Given the description of an element on the screen output the (x, y) to click on. 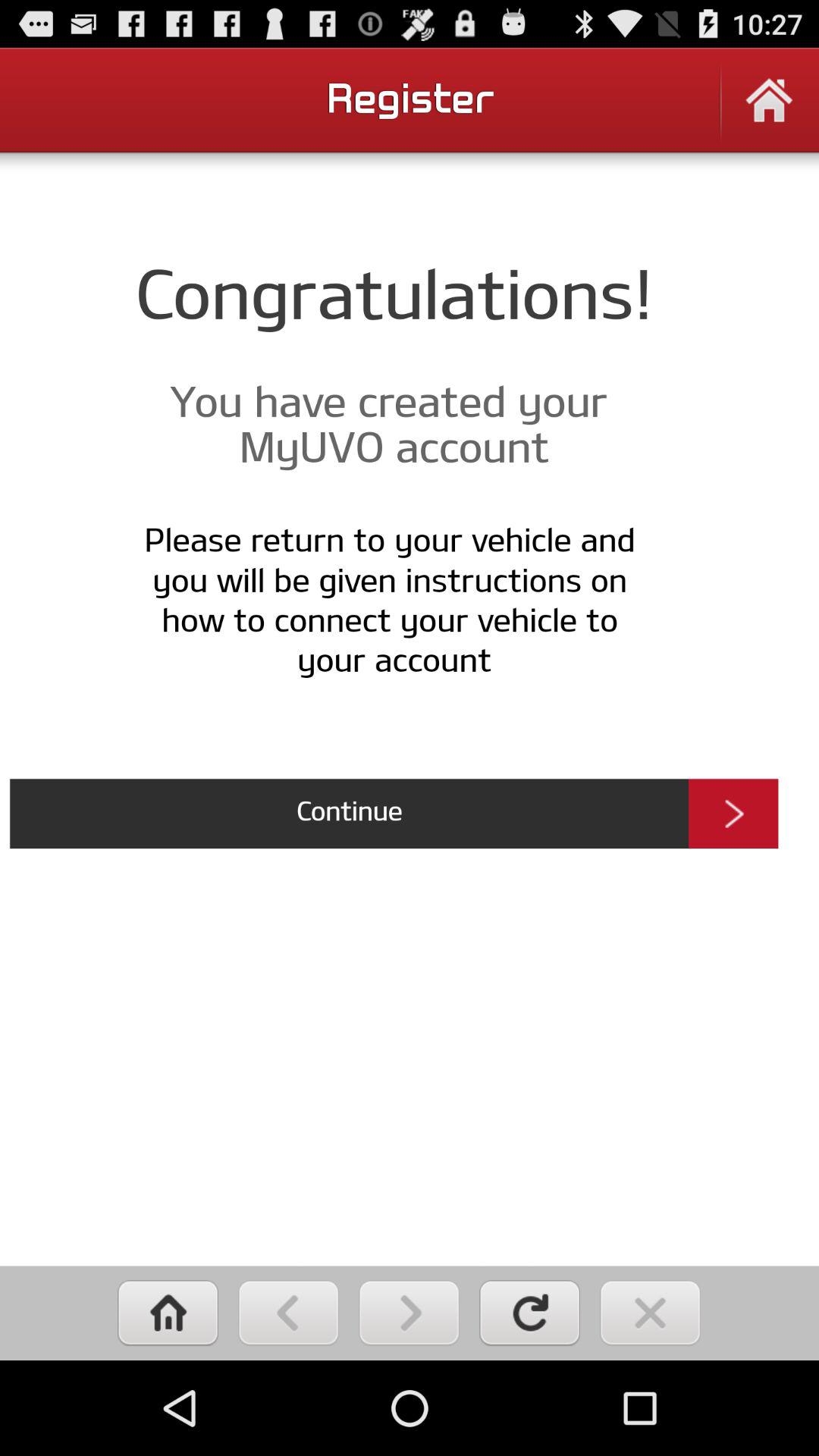
reload (529, 1313)
